Given the description of an element on the screen output the (x, y) to click on. 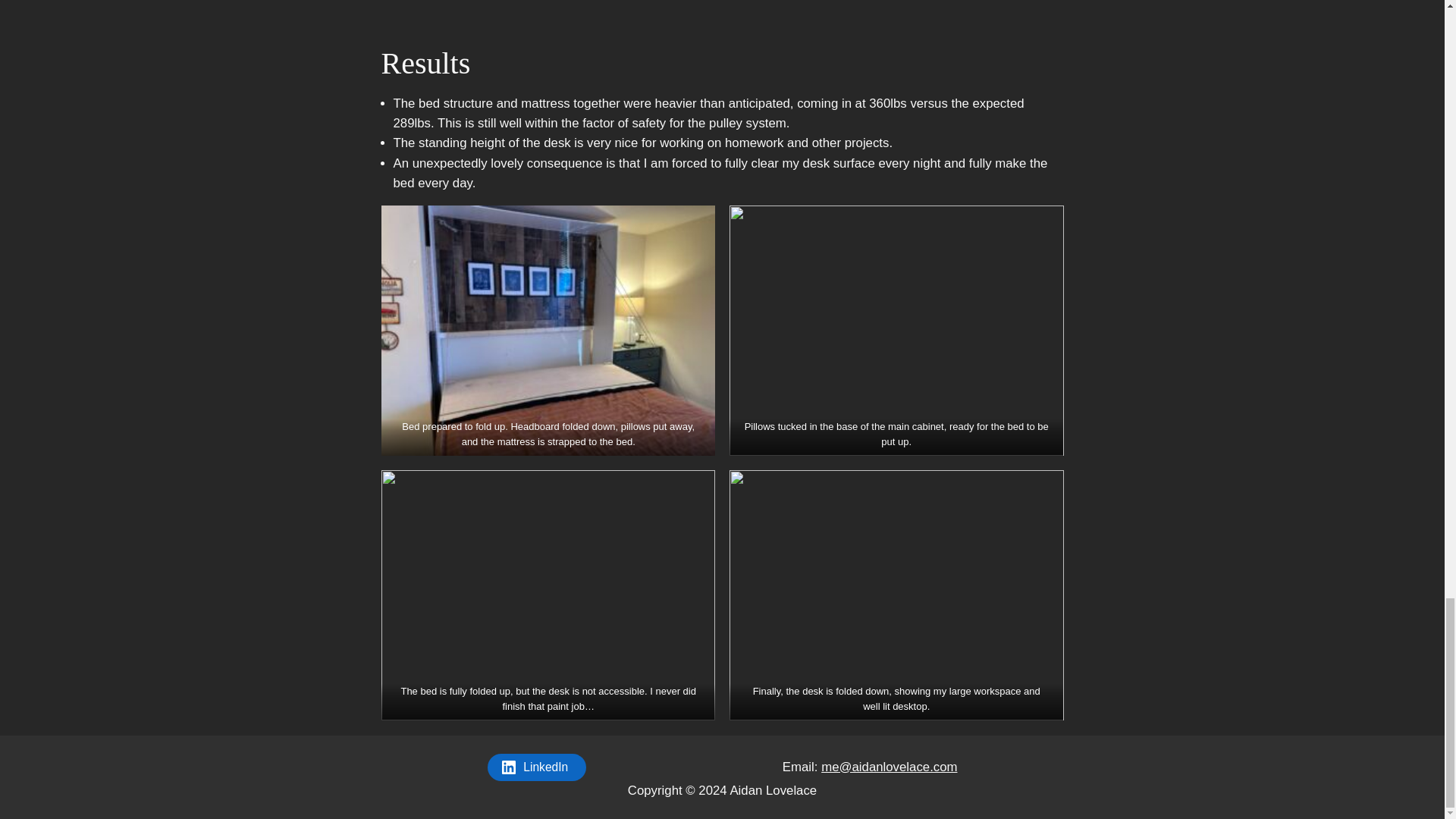
LinkedIn (536, 767)
